Given the description of an element on the screen output the (x, y) to click on. 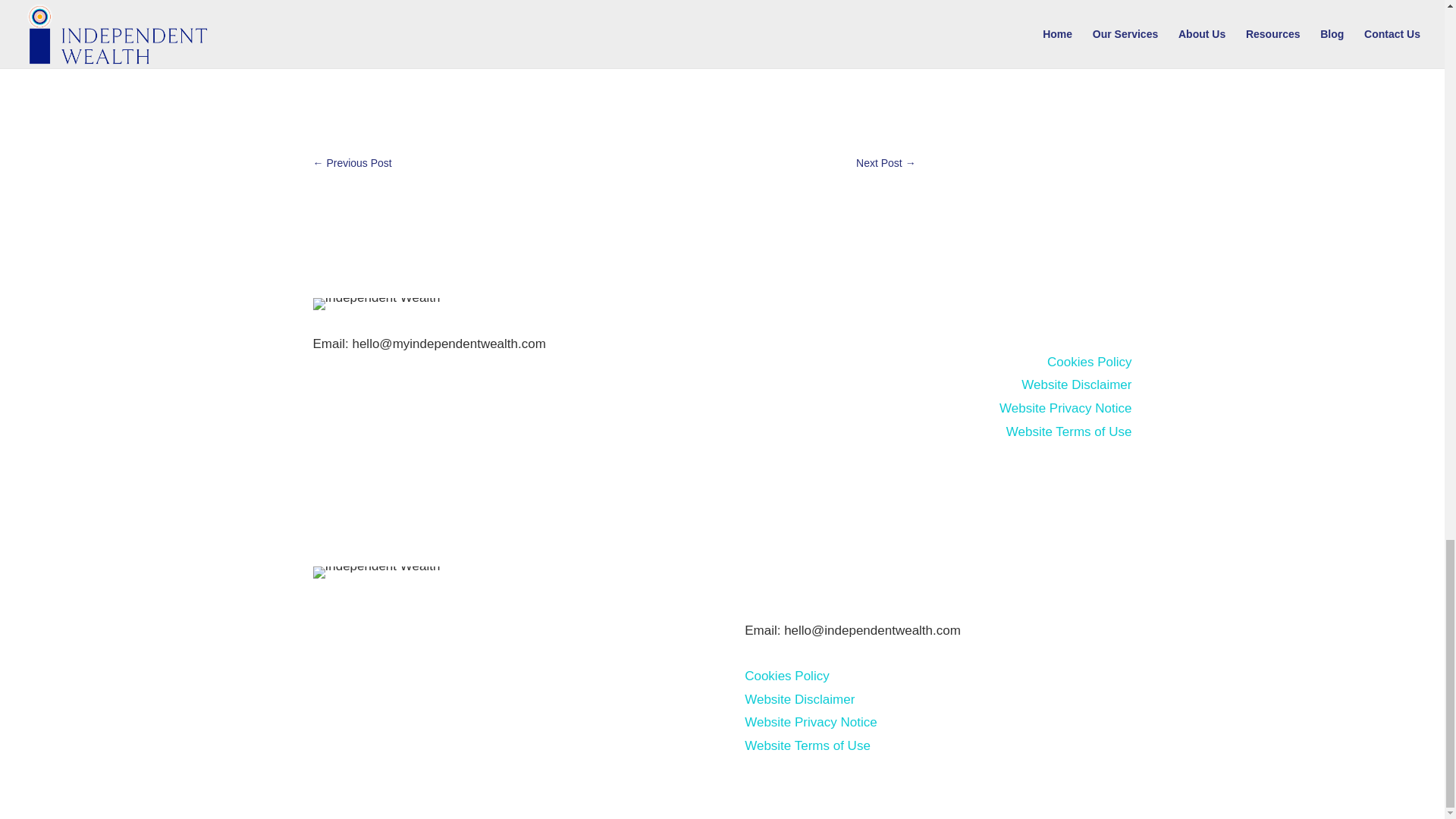
Website Privacy Notice (810, 721)
Website Terms of Use (1069, 431)
Website Terms of Use (807, 745)
Follow on Instagram (1118, 310)
IW-Logo-Pink (376, 304)
Cookies Policy (786, 676)
Follow on Instagram (817, 578)
Website Privacy Notice (1064, 408)
Follow on LinkedIn (756, 578)
IW-Logo-Pink (376, 572)
Website Disclaimer (1076, 384)
Follow on Facebook (786, 578)
Cookies Policy (1089, 361)
Follow on LinkedIn (1058, 310)
Follow on Facebook (1088, 310)
